Given the description of an element on the screen output the (x, y) to click on. 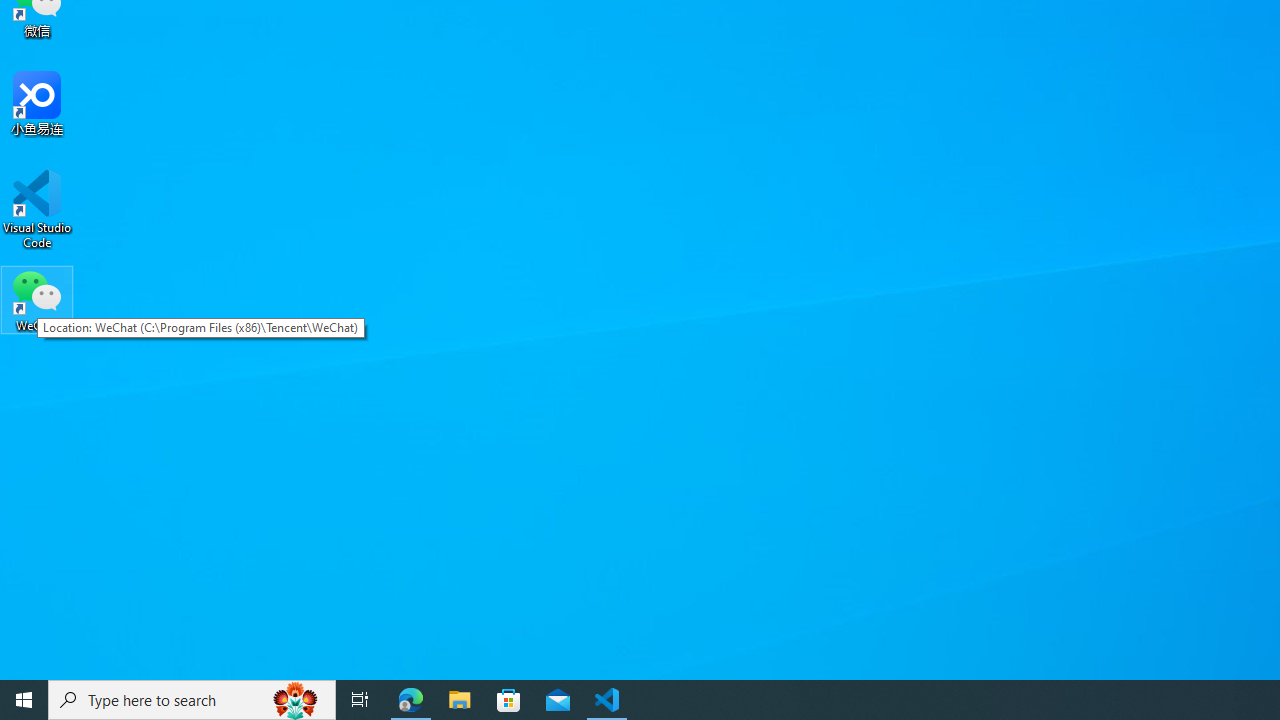
Visual Studio Code - 1 running window (607, 699)
Task View (359, 699)
Start (24, 699)
Search highlights icon opens search home window (295, 699)
WeChat (37, 299)
File Explorer (460, 699)
Type here to search (191, 699)
Visual Studio Code (37, 209)
Microsoft Edge - 1 running window (411, 699)
Microsoft Store (509, 699)
